Given the description of an element on the screen output the (x, y) to click on. 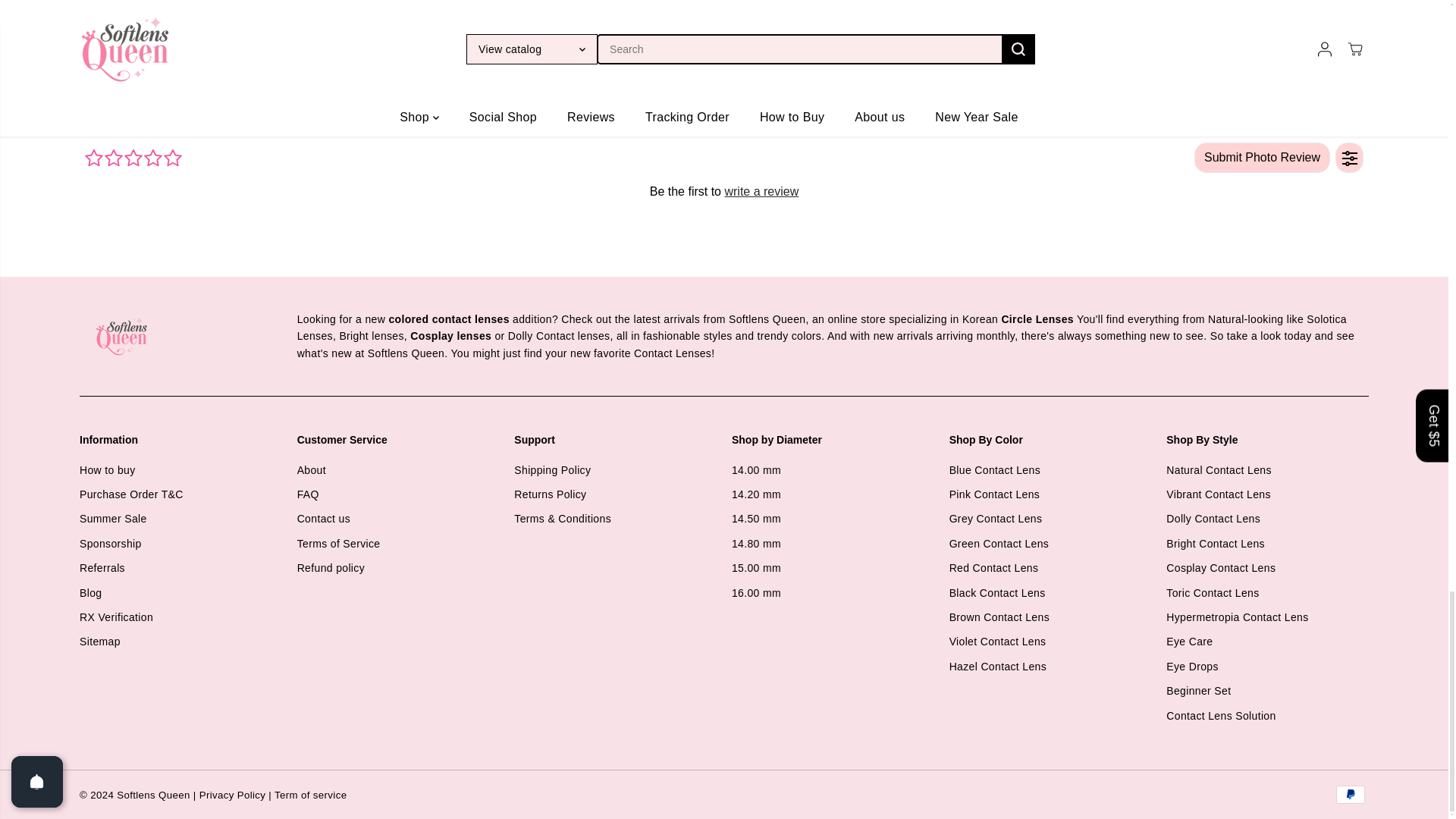
PayPal (1350, 794)
